Given the description of an element on the screen output the (x, y) to click on. 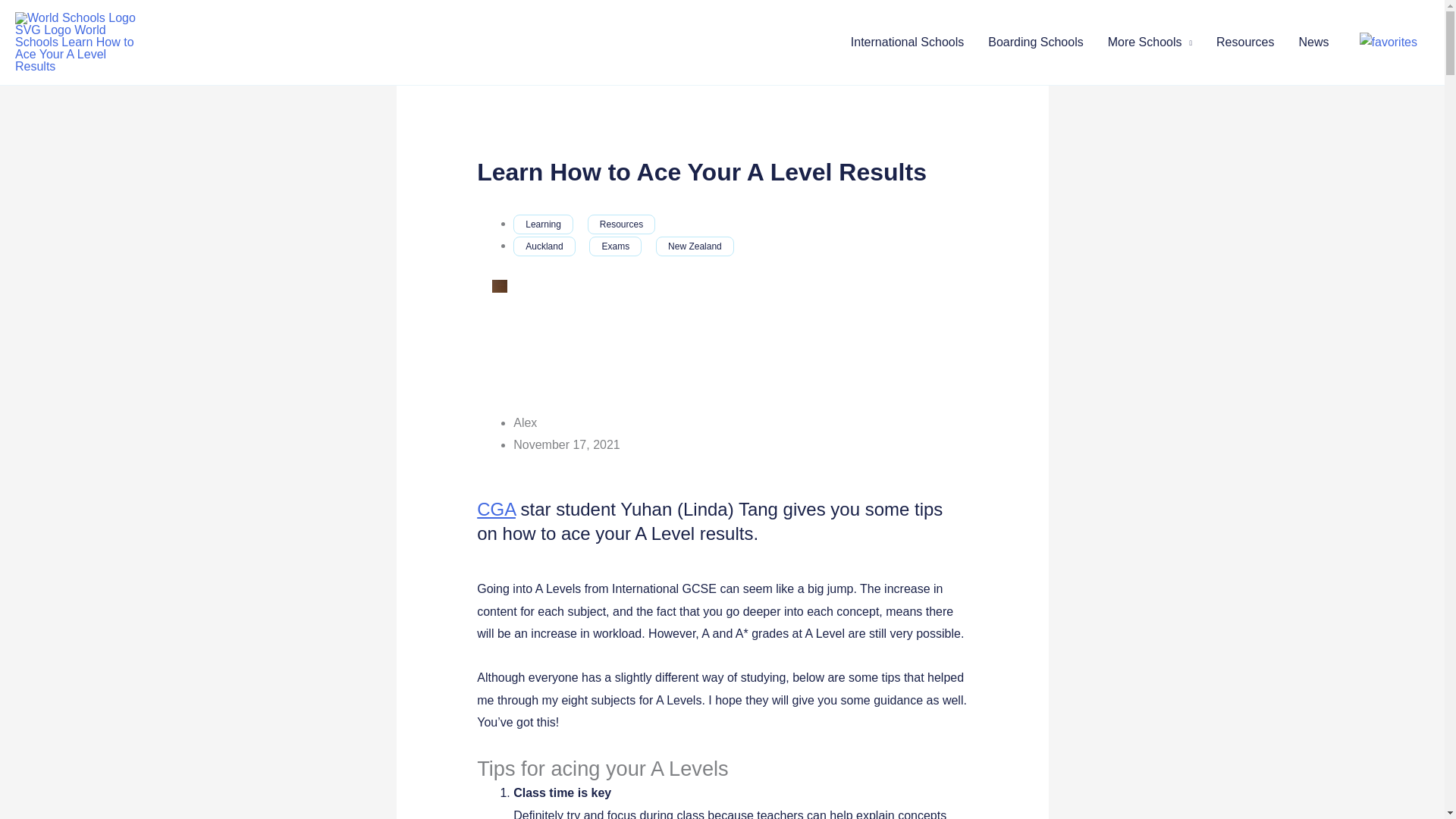
Boarding Schools (1034, 42)
Exams (615, 246)
CGA (496, 508)
Auckland (544, 246)
International Schools (906, 42)
More Schools (1150, 42)
Learning (543, 224)
Resources (621, 224)
New Zealand (694, 246)
Resources (1244, 42)
